Given the description of an element on the screen output the (x, y) to click on. 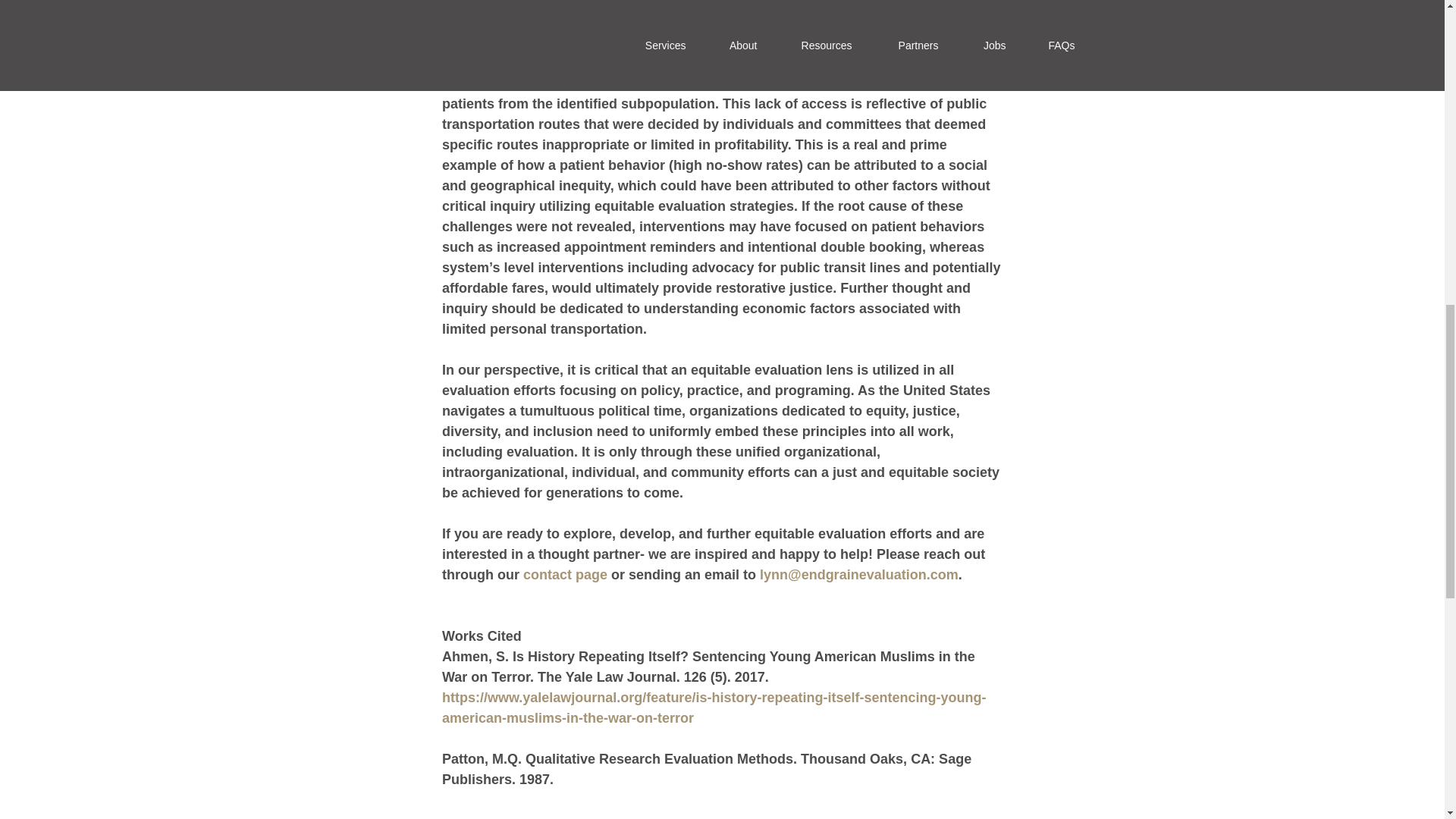
contact (546, 574)
 page (589, 574)
.com (942, 574)
endgrainevaluation (863, 574)
